Given the description of an element on the screen output the (x, y) to click on. 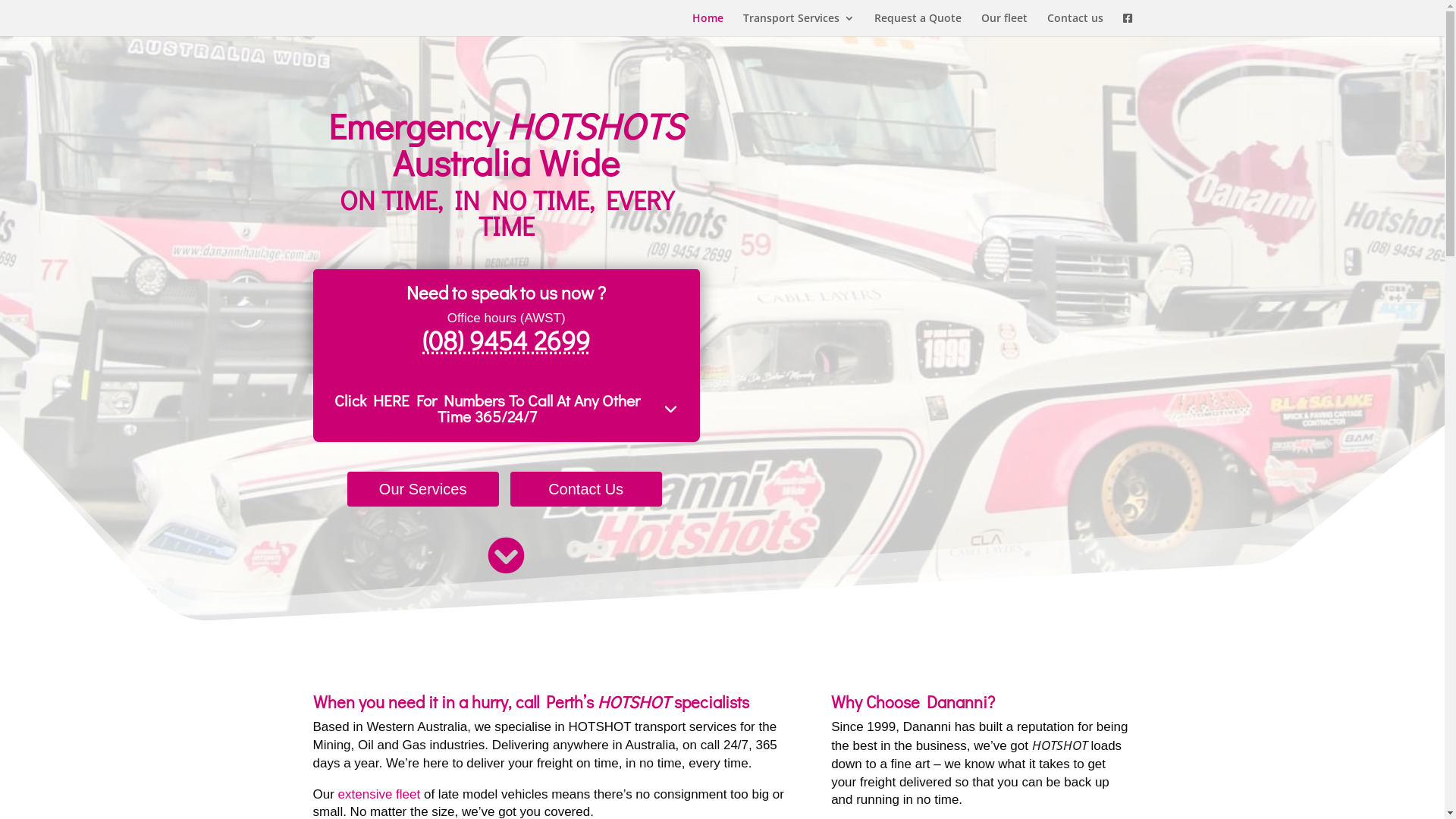
Transport Services Element type: text (798, 24)
Home Element type: text (706, 24)
(08) 9454 2699 Element type: text (505, 340)
Our Services Element type: text (422, 488)
Contact us Element type: text (1074, 24)
extensive fleet Element type: text (379, 794)
Our fleet Element type: text (1004, 24)
Contact Us Element type: text (586, 488)
Request a Quote Element type: text (916, 24)
